Given the description of an element on the screen output the (x, y) to click on. 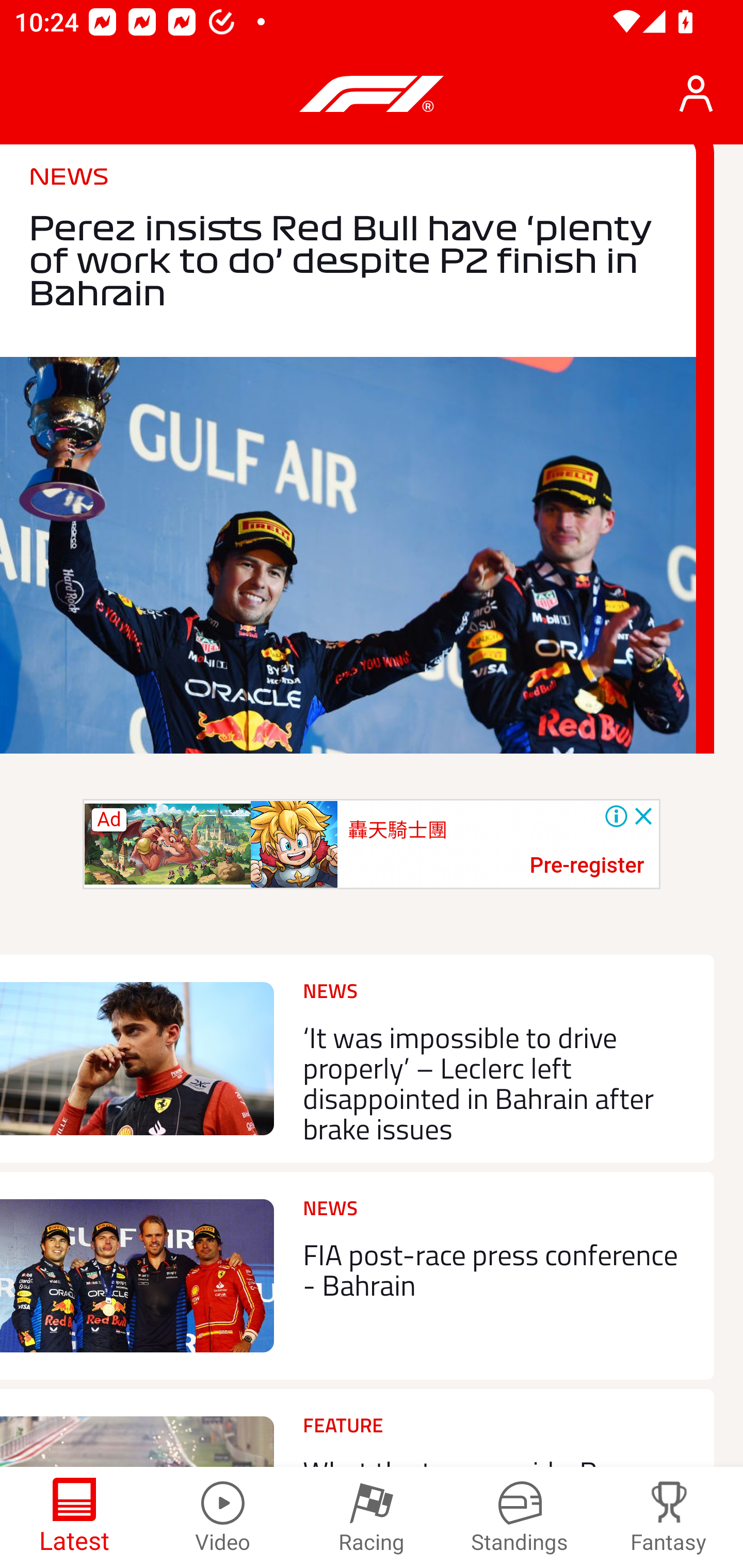
轟天騎士團 (397, 829)
Pre-register (586, 865)
Video (222, 1517)
Racing (371, 1517)
Standings (519, 1517)
Fantasy (668, 1517)
